Given the description of an element on the screen output the (x, y) to click on. 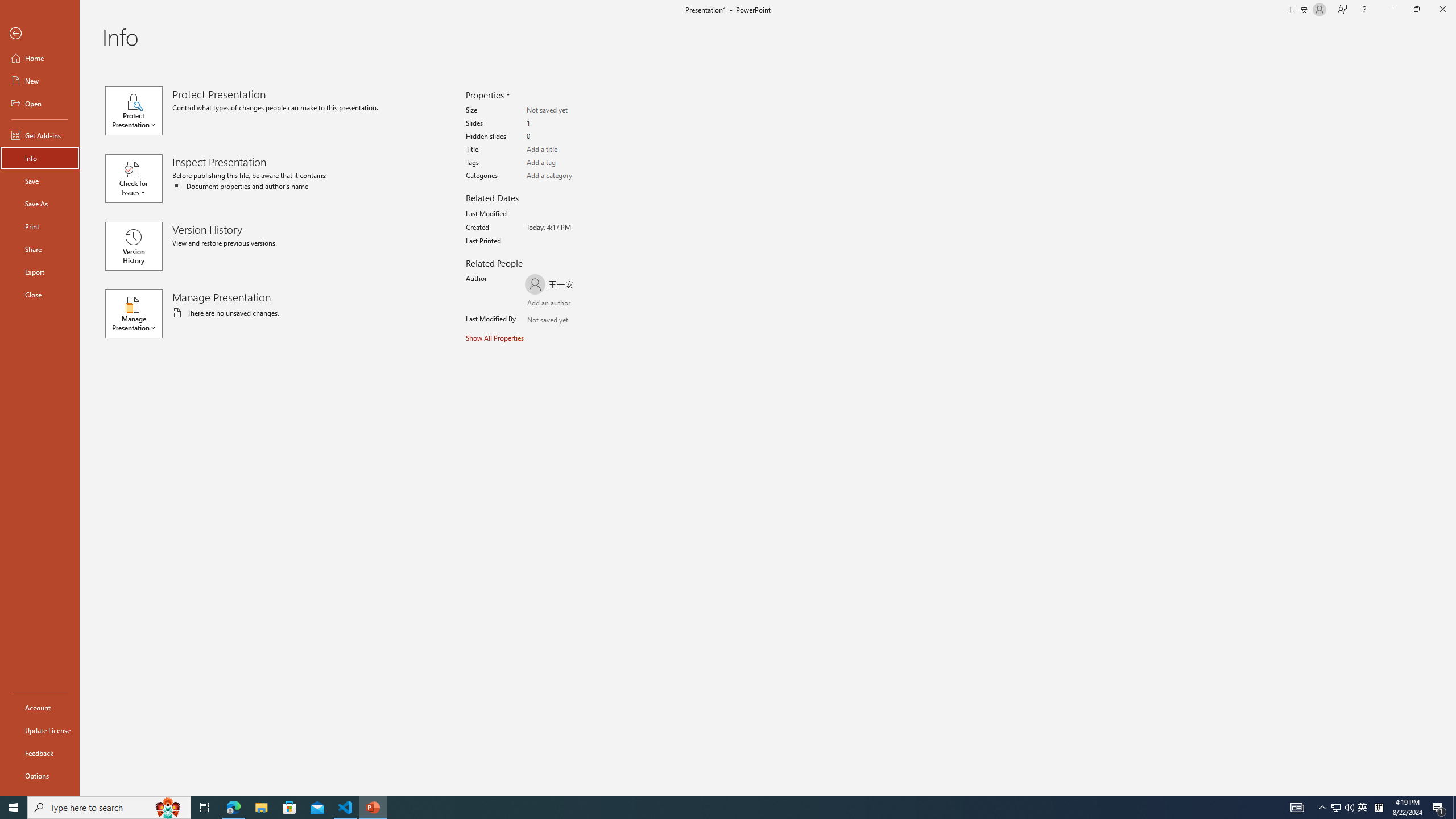
Manage Presentation (137, 313)
Account (40, 707)
Protect Presentation (137, 110)
New (40, 80)
Properties (486, 94)
Get Add-ins (40, 134)
